Given the description of an element on the screen output the (x, y) to click on. 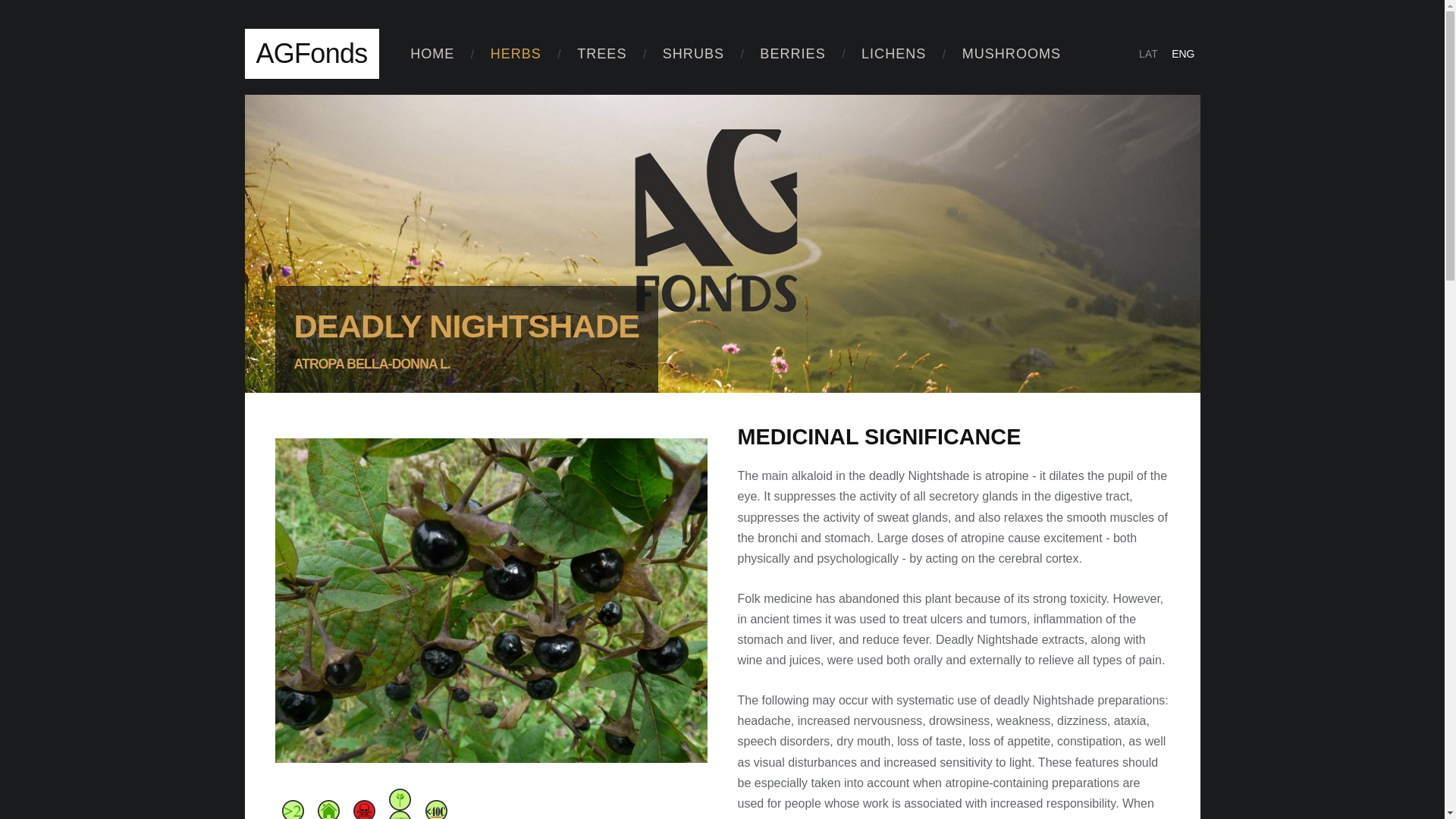
AGFonds (311, 53)
ENG (1182, 53)
HOME (432, 53)
LAT (1148, 53)
HERBS (515, 53)
